Given the description of an element on the screen output the (x, y) to click on. 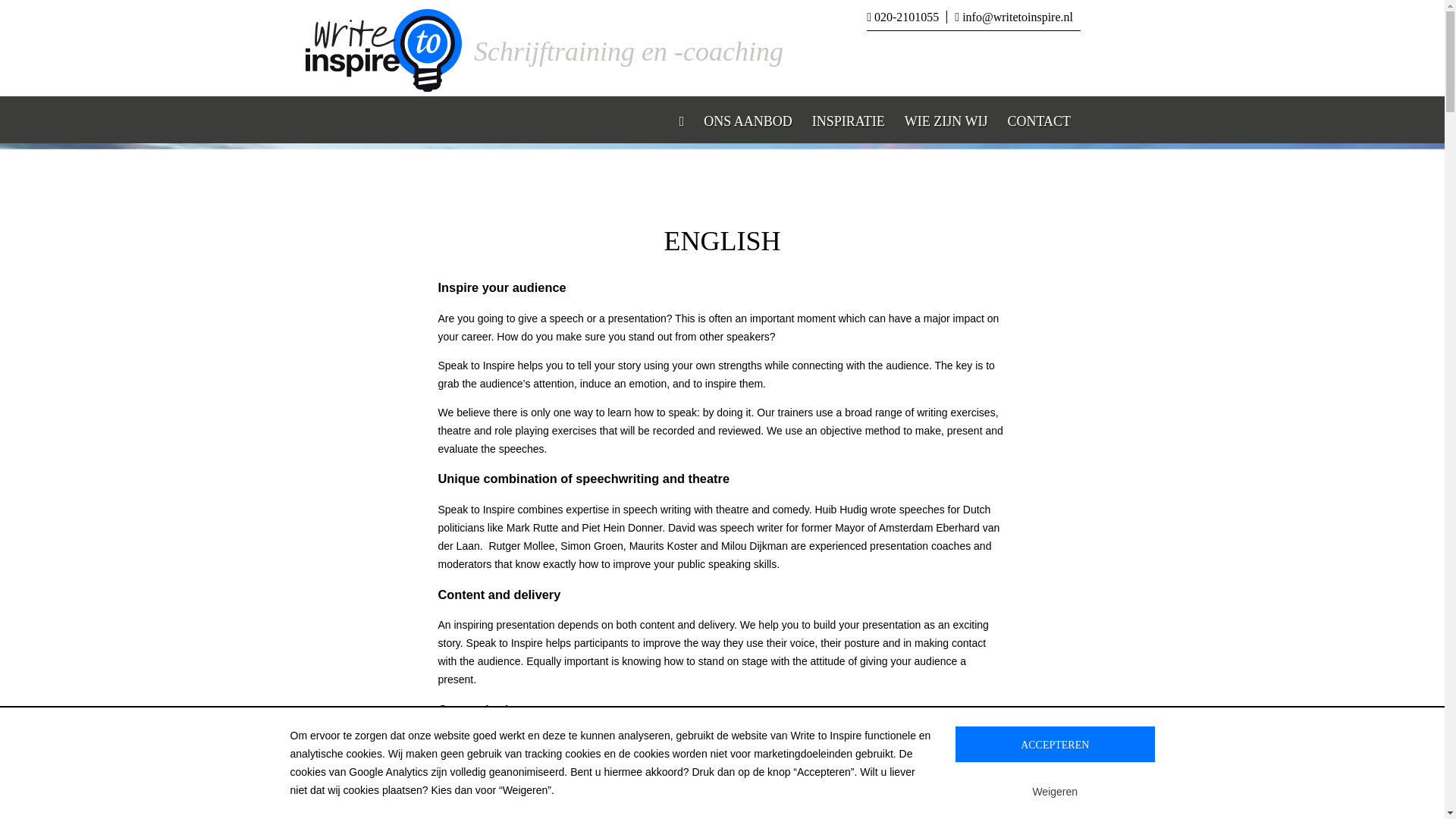
ONS AANBOD (748, 120)
ACCEPTEREN (1054, 744)
WIE ZIJN WIJ (946, 120)
Weigeren (1054, 791)
INSPIRATIE (848, 120)
020-2101055 (906, 16)
CONTACT (1038, 120)
